Given the description of an element on the screen output the (x, y) to click on. 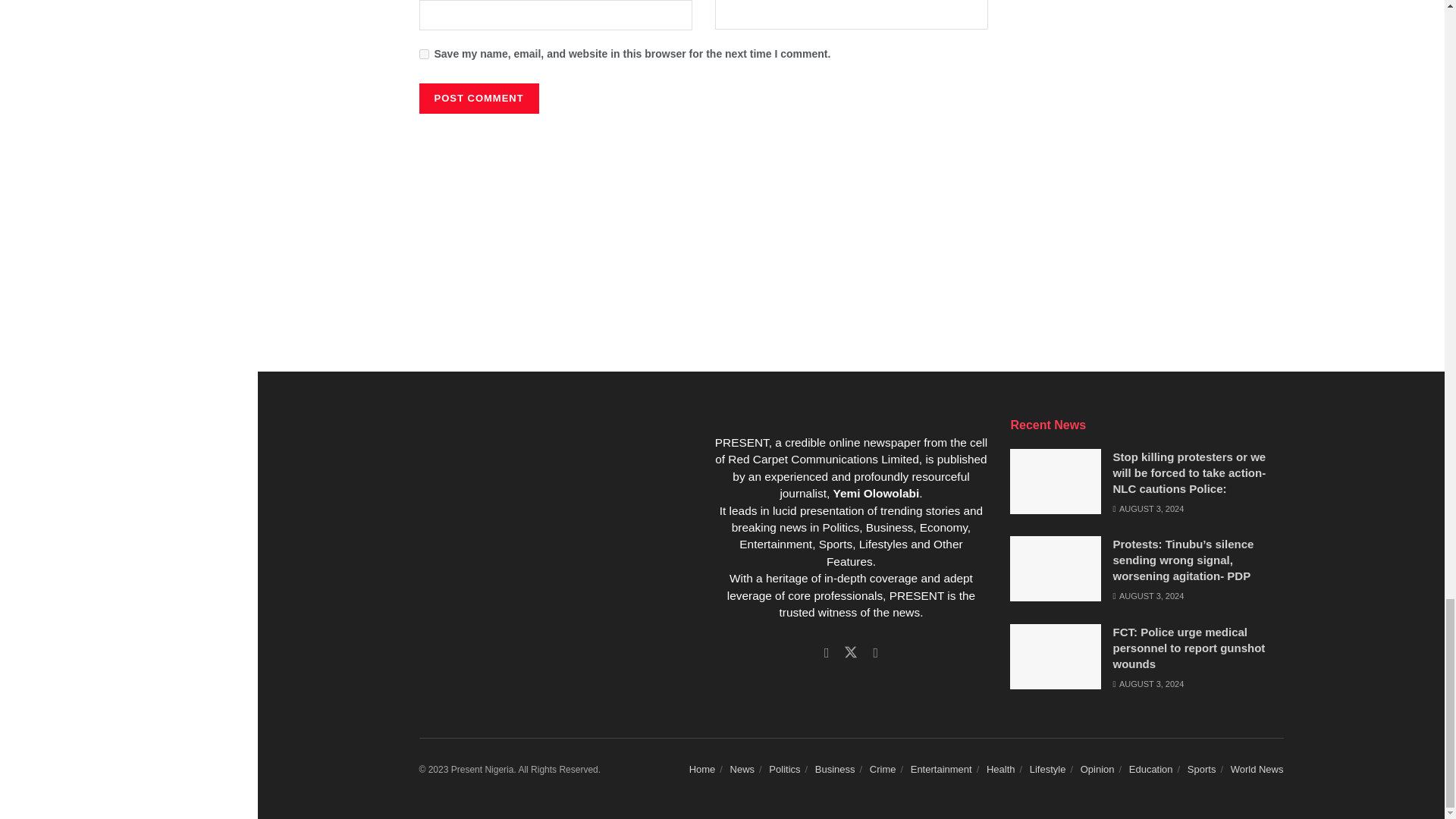
Post Comment (478, 98)
yes (423, 53)
